Given the description of an element on the screen output the (x, y) to click on. 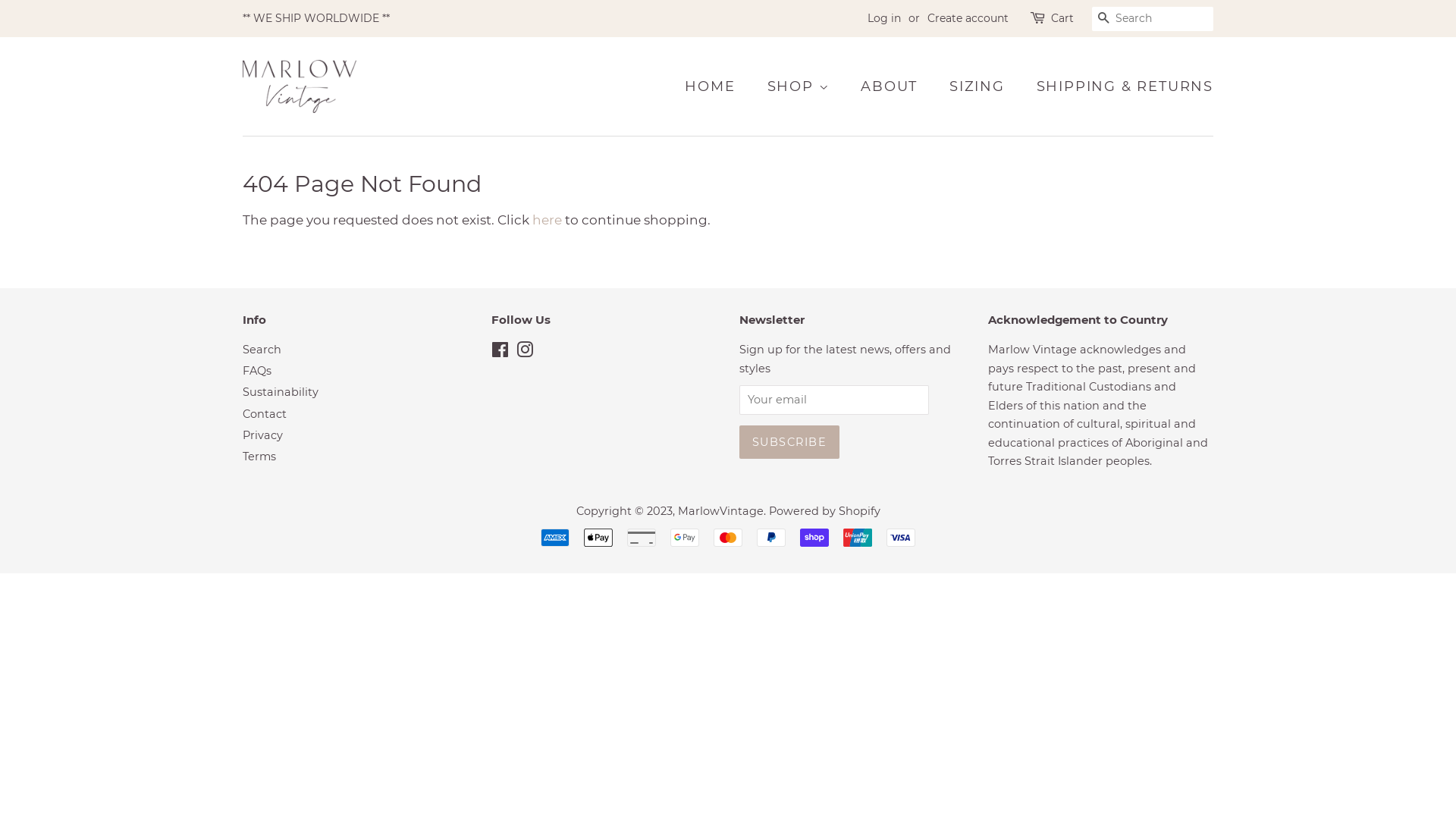
** WE SHIP WORLDWIDE ** Element type: text (315, 18)
Create account Element type: text (967, 18)
Privacy Element type: text (262, 435)
SEARCH Element type: text (1104, 18)
FAQs Element type: text (256, 370)
Instagram Element type: text (523, 352)
SHOP Element type: text (799, 86)
SIZING Element type: text (978, 86)
Subscribe Element type: text (789, 441)
Sustainability Element type: text (280, 391)
ABOUT Element type: text (890, 86)
HOME Element type: text (716, 86)
Cart Element type: text (1062, 18)
SHIPPING & RETURNS Element type: text (1119, 86)
Powered by Shopify Element type: text (824, 510)
Contact Element type: text (264, 413)
Log in Element type: text (883, 18)
MarlowVintage Element type: text (720, 510)
Terms Element type: text (259, 456)
here Element type: text (546, 219)
Search Element type: text (261, 349)
Facebook Element type: text (499, 352)
